Given the description of an element on the screen output the (x, y) to click on. 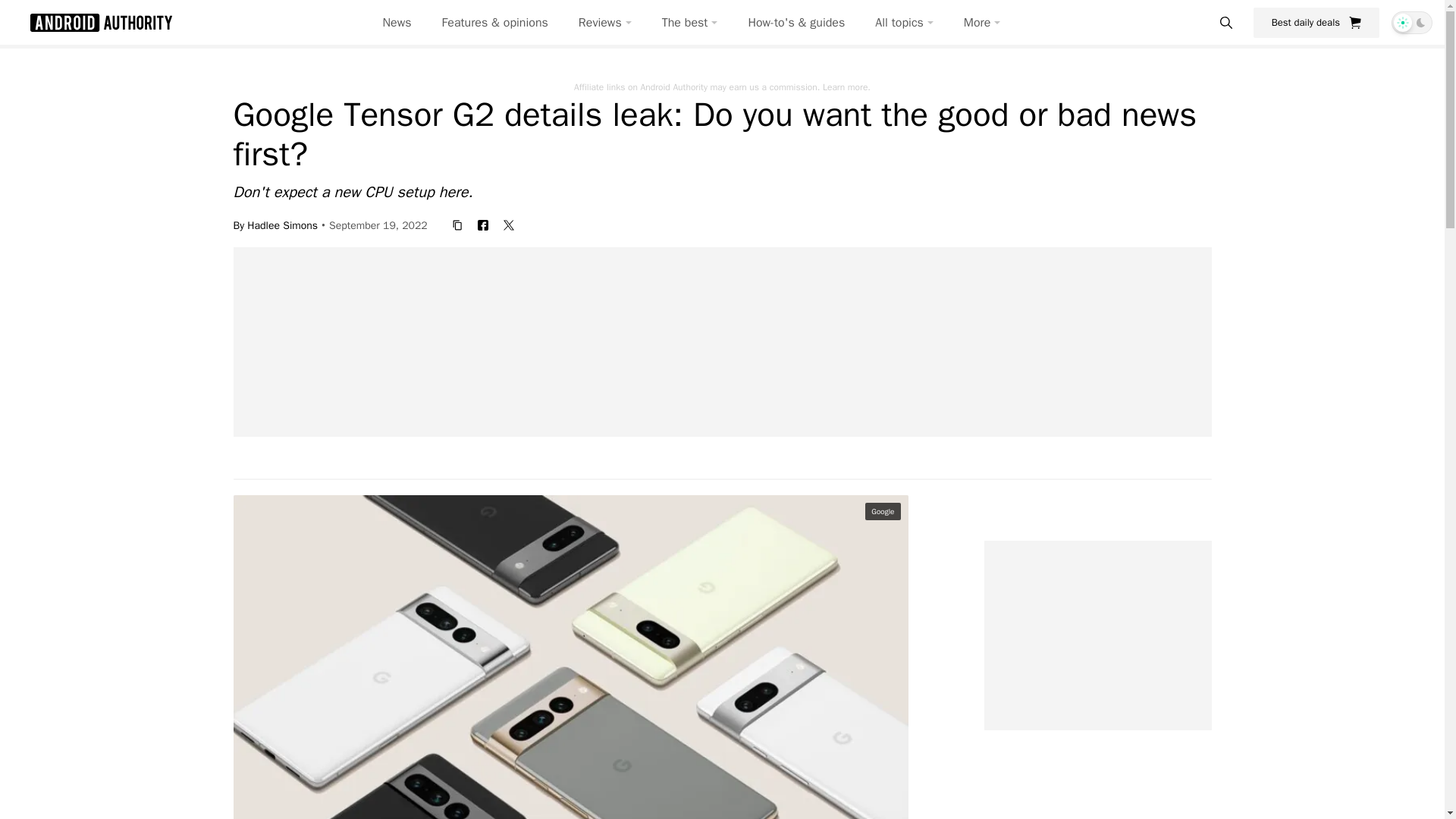
All topics (904, 22)
Reviews (604, 22)
Learn more. (846, 86)
Hadlee Simons (282, 224)
The best (689, 22)
twitter (508, 225)
facebook (483, 225)
Best daily deals (1315, 22)
